Given the description of an element on the screen output the (x, y) to click on. 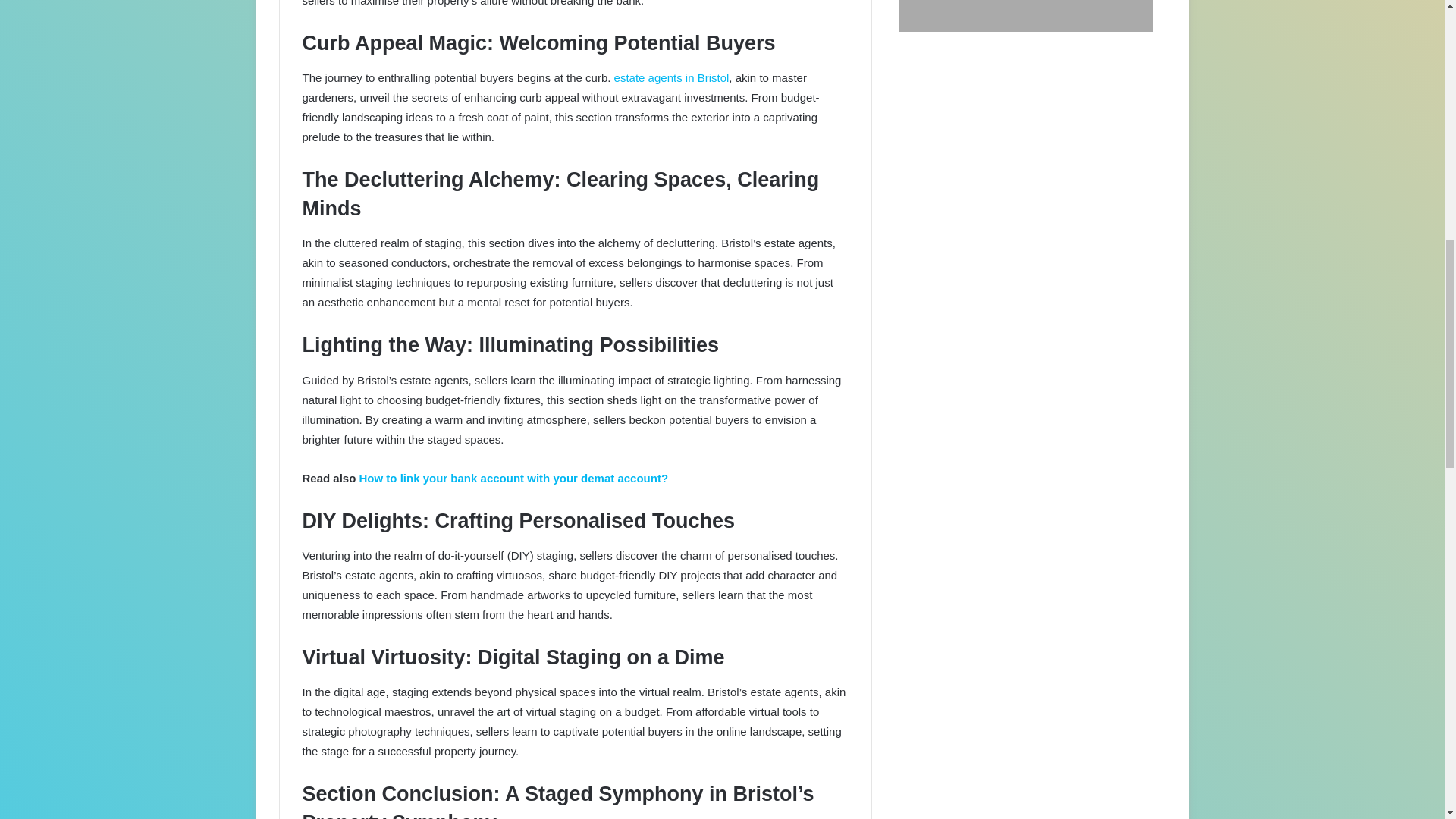
How to link your bank account with your demat account? (513, 477)
estate agents in Bristol (671, 77)
